Given the description of an element on the screen output the (x, y) to click on. 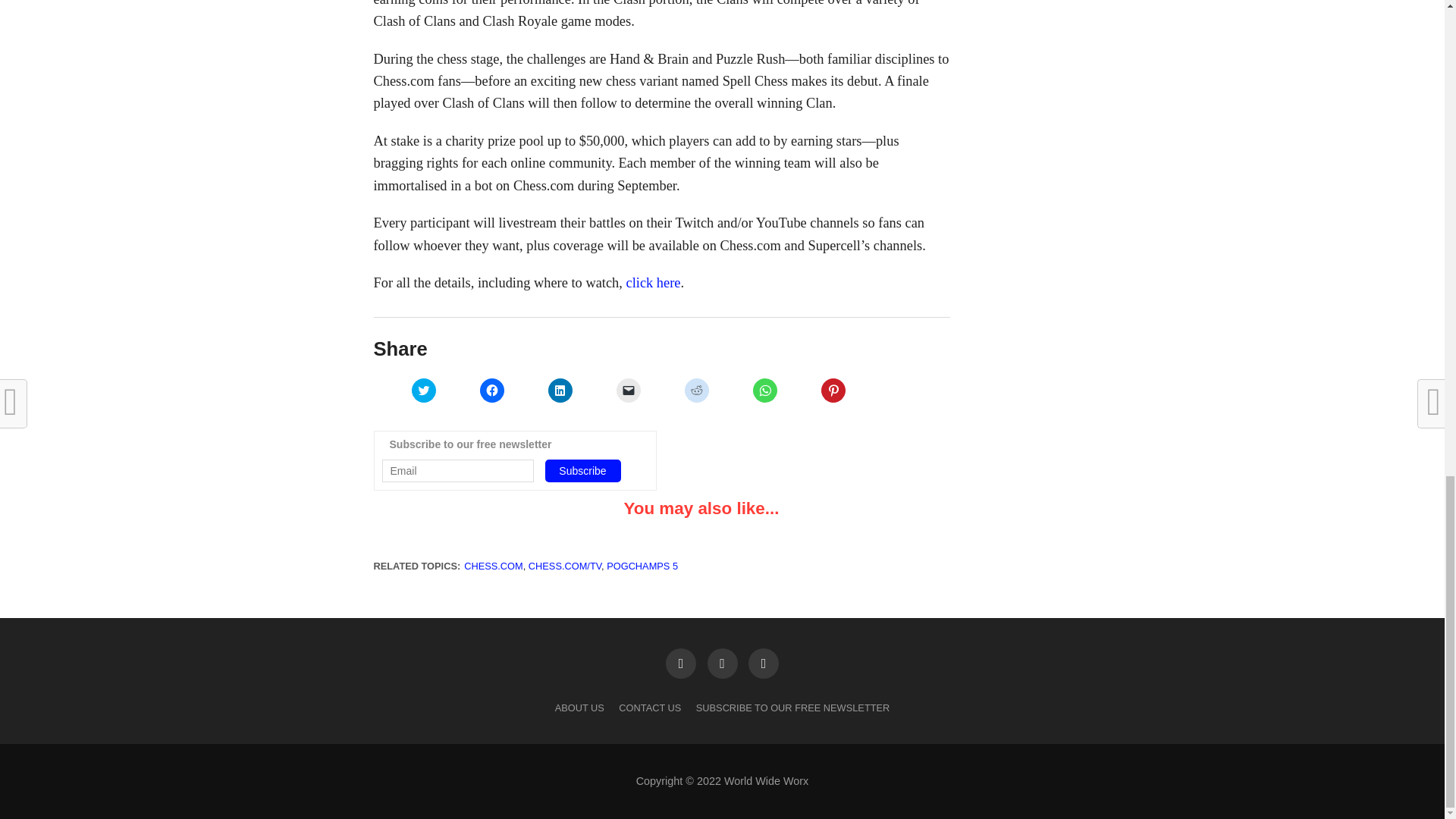
Click to share on Twitter (422, 390)
Subscribe (582, 470)
Click to share on WhatsApp (764, 390)
Click to email a link to a friend (627, 390)
Click to share on Pinterest (832, 390)
click here (653, 282)
Click to share on Reddit (695, 390)
Click to share on Facebook (491, 390)
Click to share on LinkedIn (559, 390)
